Given the description of an element on the screen output the (x, y) to click on. 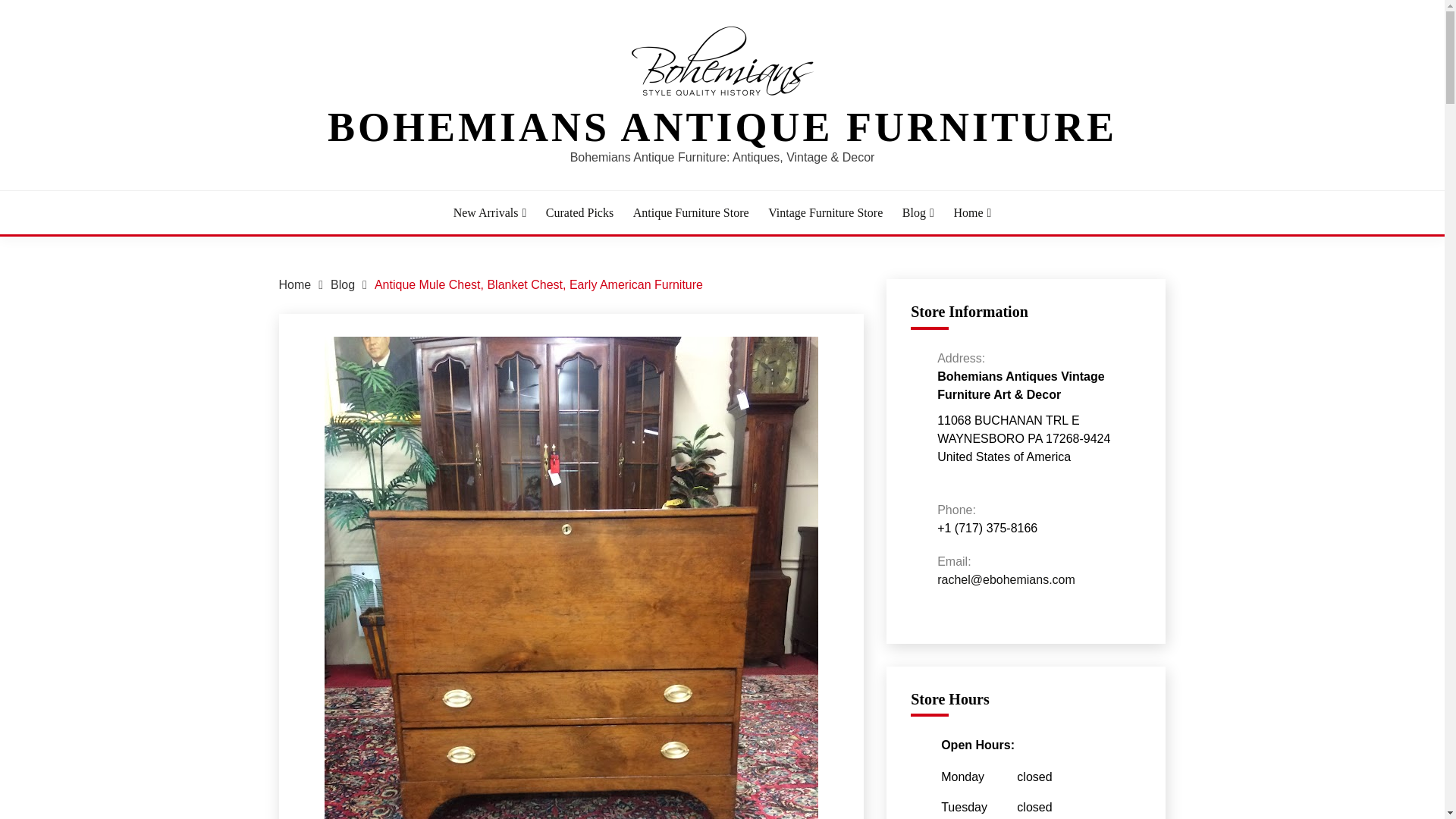
Blog (918, 212)
Home (972, 212)
Antique Mule Chest, Blanket Chest, Early American Furniture (538, 284)
New Arrivals (489, 212)
New Arrivals (489, 212)
Curated Picks (579, 212)
BOHEMIANS ANTIQUE FURNITURE (721, 126)
Home (295, 284)
Antique Furniture Store (691, 212)
Vintage Furniture Store (825, 212)
